Given the description of an element on the screen output the (x, y) to click on. 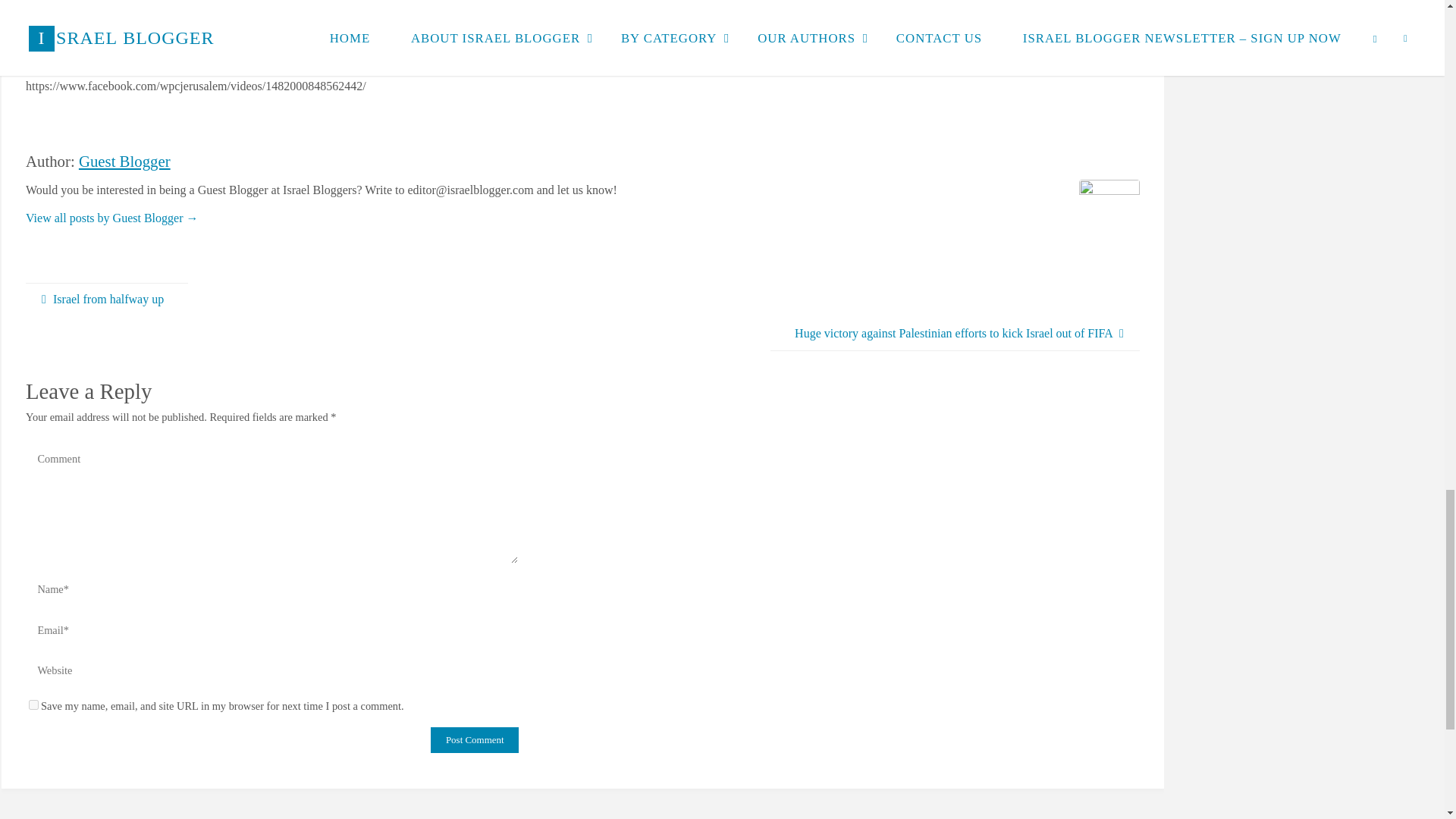
yes (34, 705)
Post Comment (474, 739)
